Given the description of an element on the screen output the (x, y) to click on. 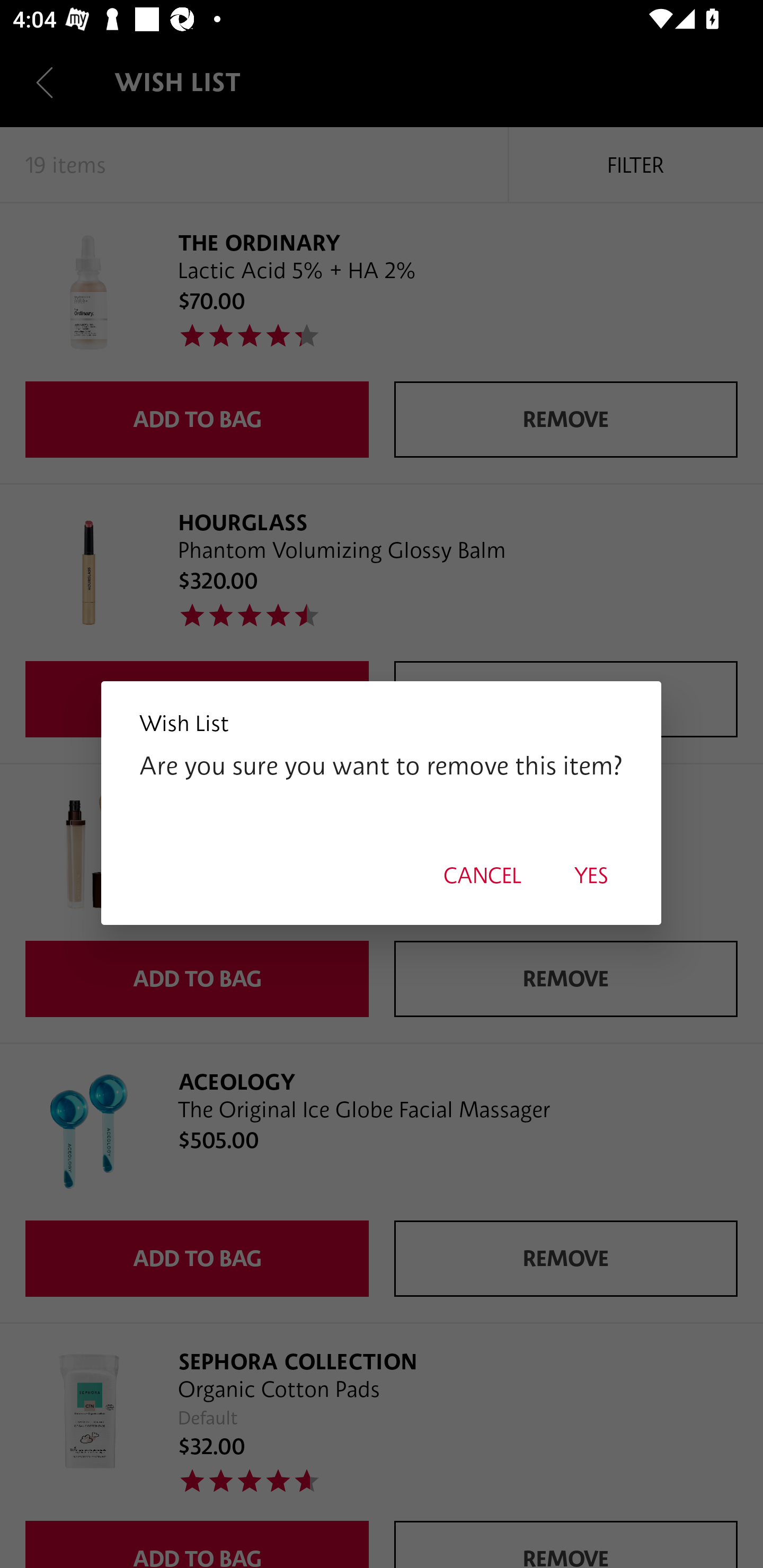
CANCEL (482, 875)
YES (591, 875)
